Given the description of an element on the screen output the (x, y) to click on. 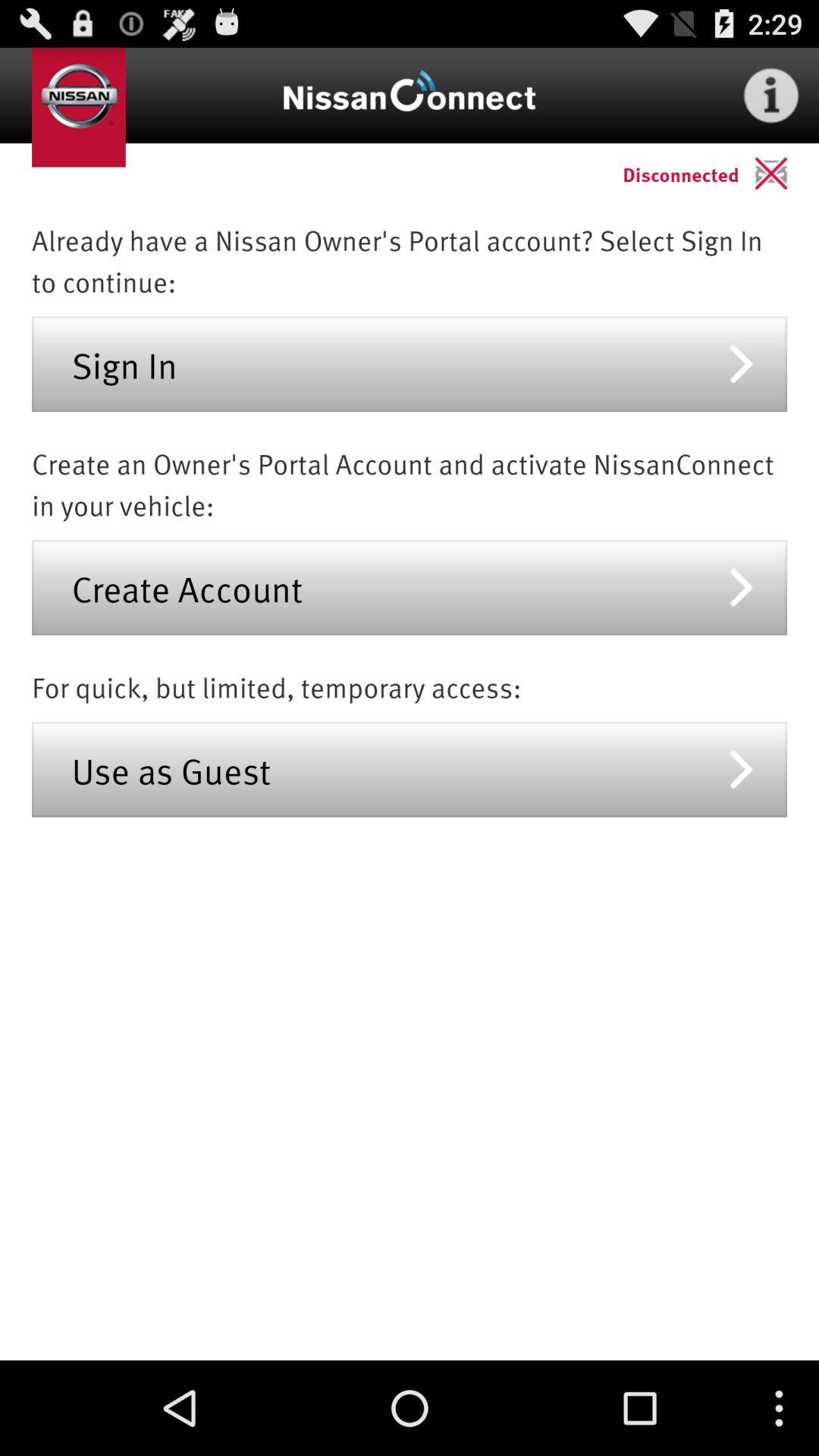
information option (771, 95)
